Given the description of an element on the screen output the (x, y) to click on. 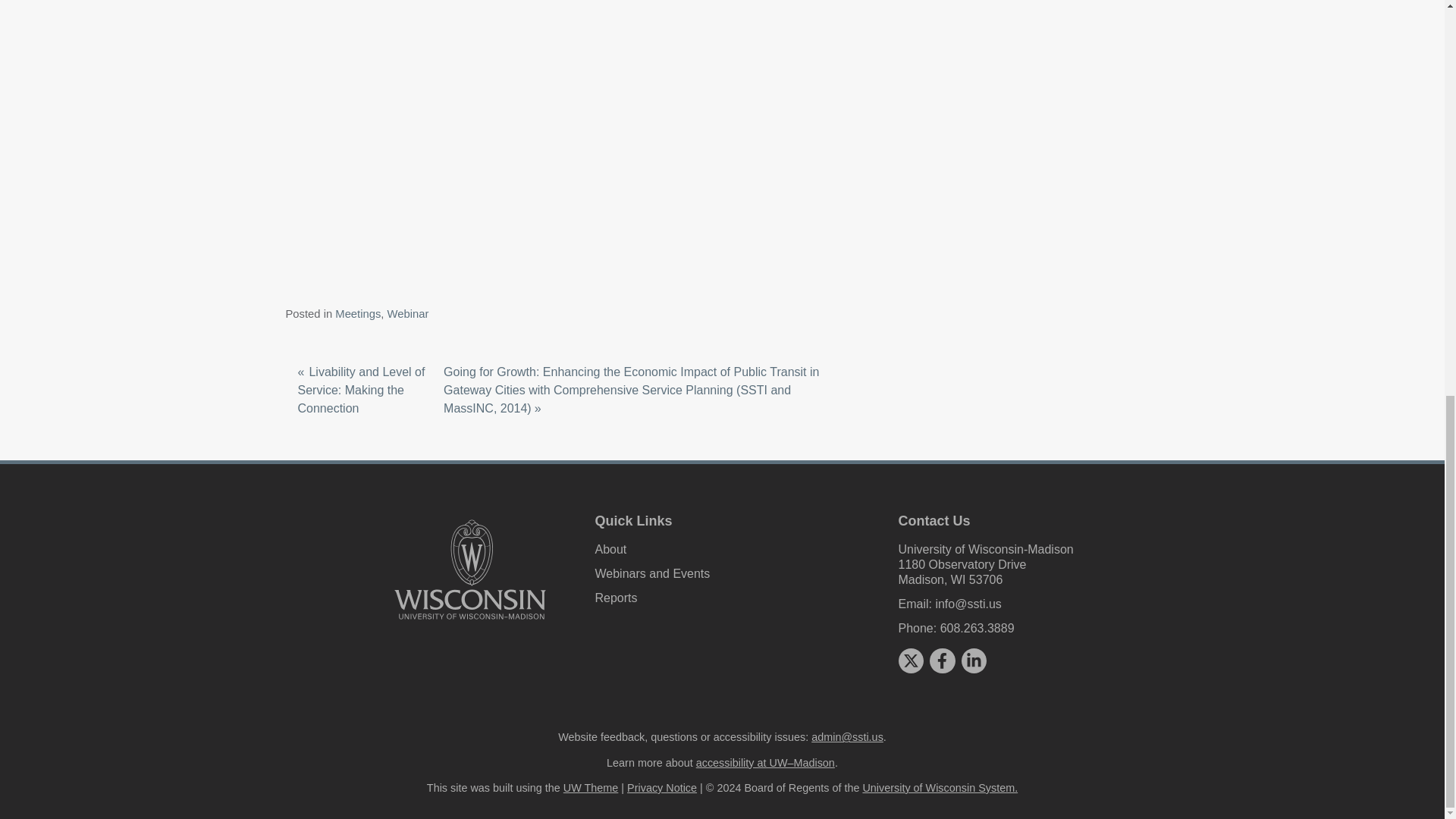
About (610, 549)
Meetings (357, 313)
University logo that links to main university website (470, 569)
x twitter (910, 660)
Reports (615, 597)
Webinar (408, 313)
Webinars and Events (652, 573)
facebook (941, 660)
linkedin (973, 660)
